Given the description of an element on the screen output the (x, y) to click on. 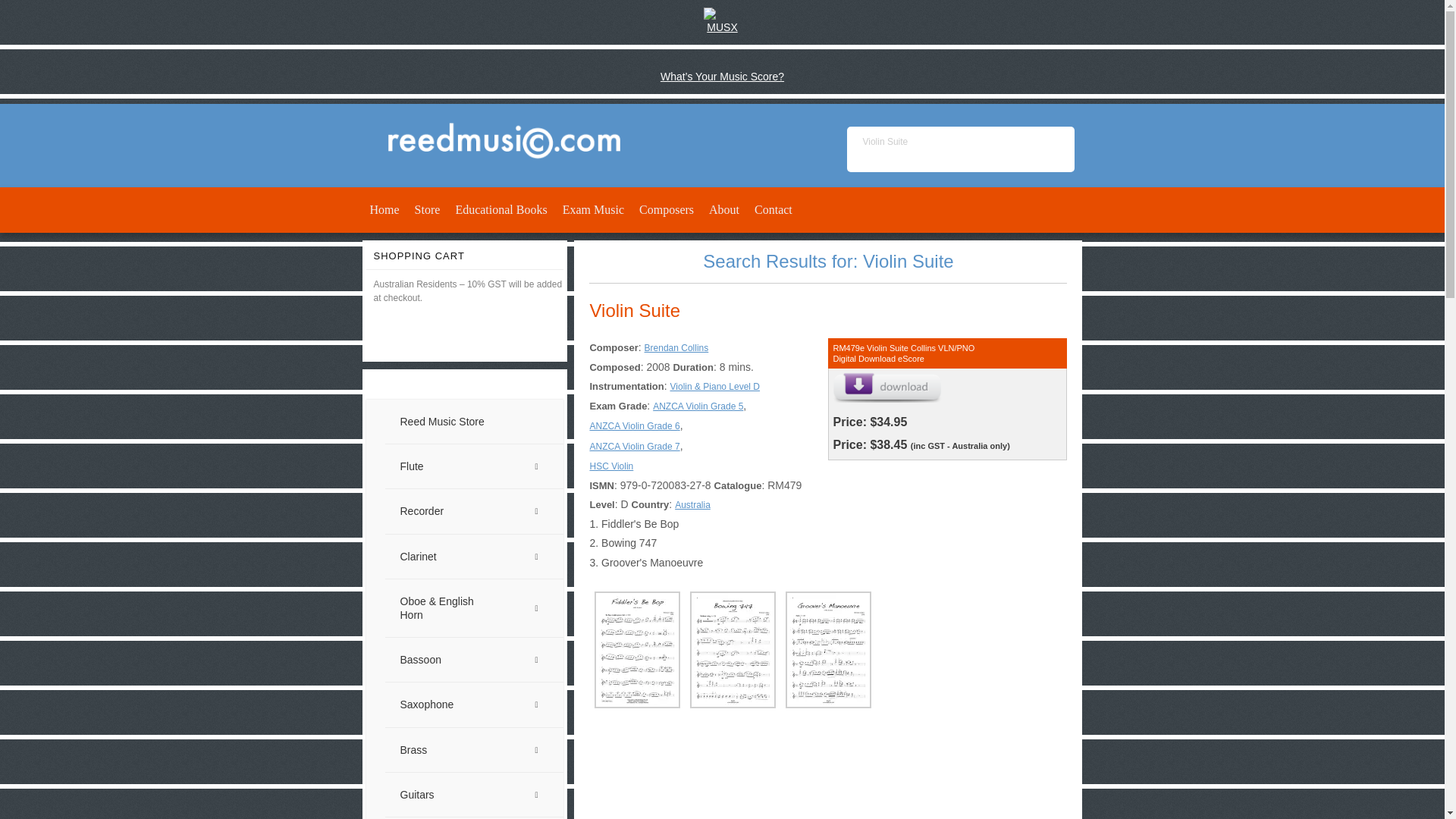
Violin Sweet - Fiddler's Bebop by Brendan Collins (778, 766)
Violin Suite (960, 148)
Store (427, 209)
Composers (666, 209)
Recorder (474, 510)
Exam Music (592, 209)
Clarinet (474, 556)
Reed Music Store (474, 421)
About (723, 209)
Violin Suite (634, 310)
